Given the description of an element on the screen output the (x, y) to click on. 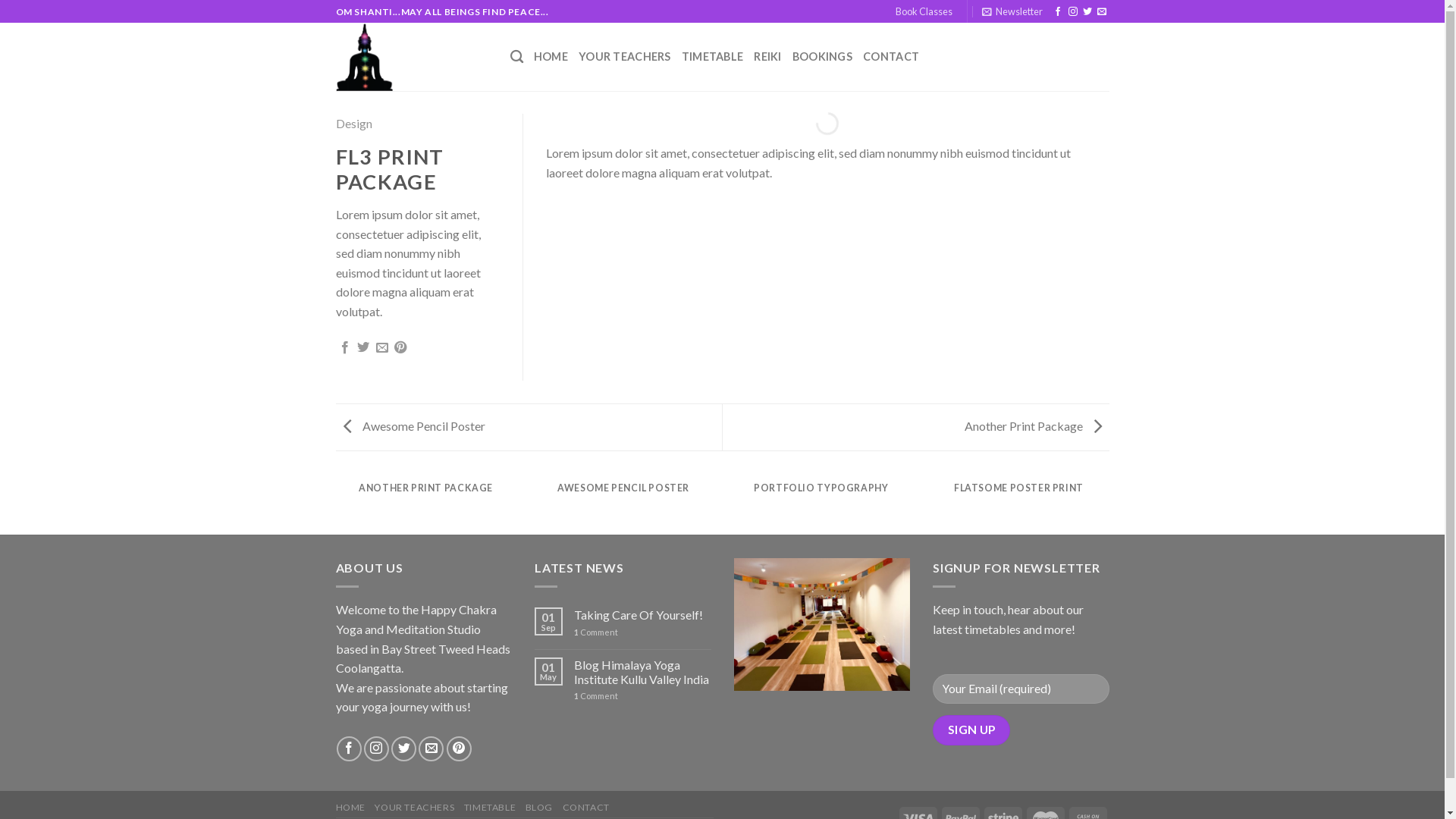
Send us an email Element type: hover (430, 748)
TIMETABLE Element type: text (490, 806)
Follow on Instagram Element type: hover (1072, 11)
Pin on Pinterest Element type: hover (400, 347)
Follow on Facebook Element type: hover (1057, 11)
BLOG Element type: text (538, 806)
Share on Twitter Element type: hover (363, 347)
FLATSOME POSTER PRINT Element type: text (1018, 496)
HOME Element type: text (550, 56)
Send us an email Element type: hover (1101, 11)
Share on Facebook Element type: hover (344, 347)
PORTFOLIO TYPOGRAPHY Element type: text (820, 496)
MAGAZINE Element type: text (1216, 496)
Follow on Instagram Element type: hover (376, 748)
ANOTHER PRINT PACKAGE Element type: text (425, 496)
TIMETABLE Element type: text (712, 56)
Follow on Pinterest Element type: hover (458, 748)
Another Print Package Element type: text (1036, 425)
Sign Up Element type: text (971, 729)
Follow on Facebook Element type: hover (348, 748)
Follow on Twitter Element type: hover (403, 748)
Awesome Pencil Poster Element type: text (409, 425)
YOUR TEACHERS Element type: text (414, 806)
Blog Himalaya Yoga Institute Kullu Valley India Element type: text (642, 671)
CONTACT Element type: text (585, 806)
1 Comment Element type: text (642, 695)
REIKI Element type: text (767, 56)
Email to a Friend Element type: hover (382, 347)
1 Comment Element type: text (642, 632)
BOOKINGS Element type: text (822, 56)
Taking Care Of Yourself! Element type: text (642, 614)
YOUR TEACHERS Element type: text (624, 56)
Book Classes Element type: text (923, 11)
AWESOME PENCIL POSTER Element type: text (623, 496)
HOME Element type: text (349, 806)
Newsletter Element type: text (1012, 11)
Design Element type: text (353, 123)
CONTACT Element type: text (890, 56)
Follow on Twitter Element type: hover (1087, 11)
